Given the description of an element on the screen output the (x, y) to click on. 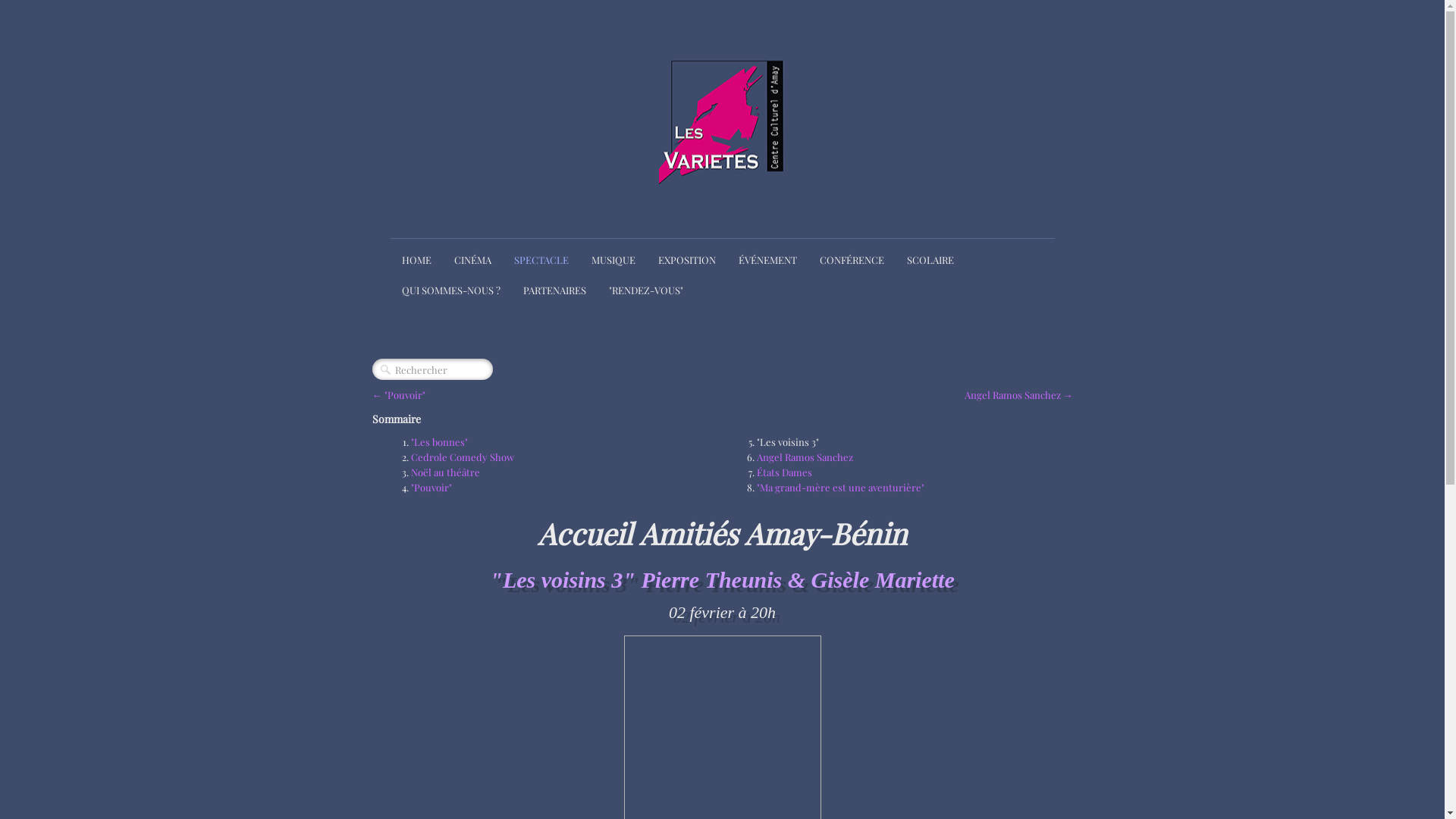
QUI SOMMES-NOUS ? Element type: text (450, 290)
Angel Ramos Sanchez Element type: text (804, 456)
HOME Element type: text (415, 259)
SPECTACLE Element type: text (540, 259)
PARTENAIRES Element type: text (553, 290)
MUSIQUE Element type: text (612, 259)
"Pouvoir" Element type: text (431, 486)
Cedrole Comedy Show Element type: text (462, 456)
"Les bonnes" Element type: text (439, 441)
SCOLAIRE Element type: text (929, 259)
EXPOSITION Element type: text (686, 259)
"RENDEZ-VOUS" Element type: text (645, 290)
